Given the description of an element on the screen output the (x, y) to click on. 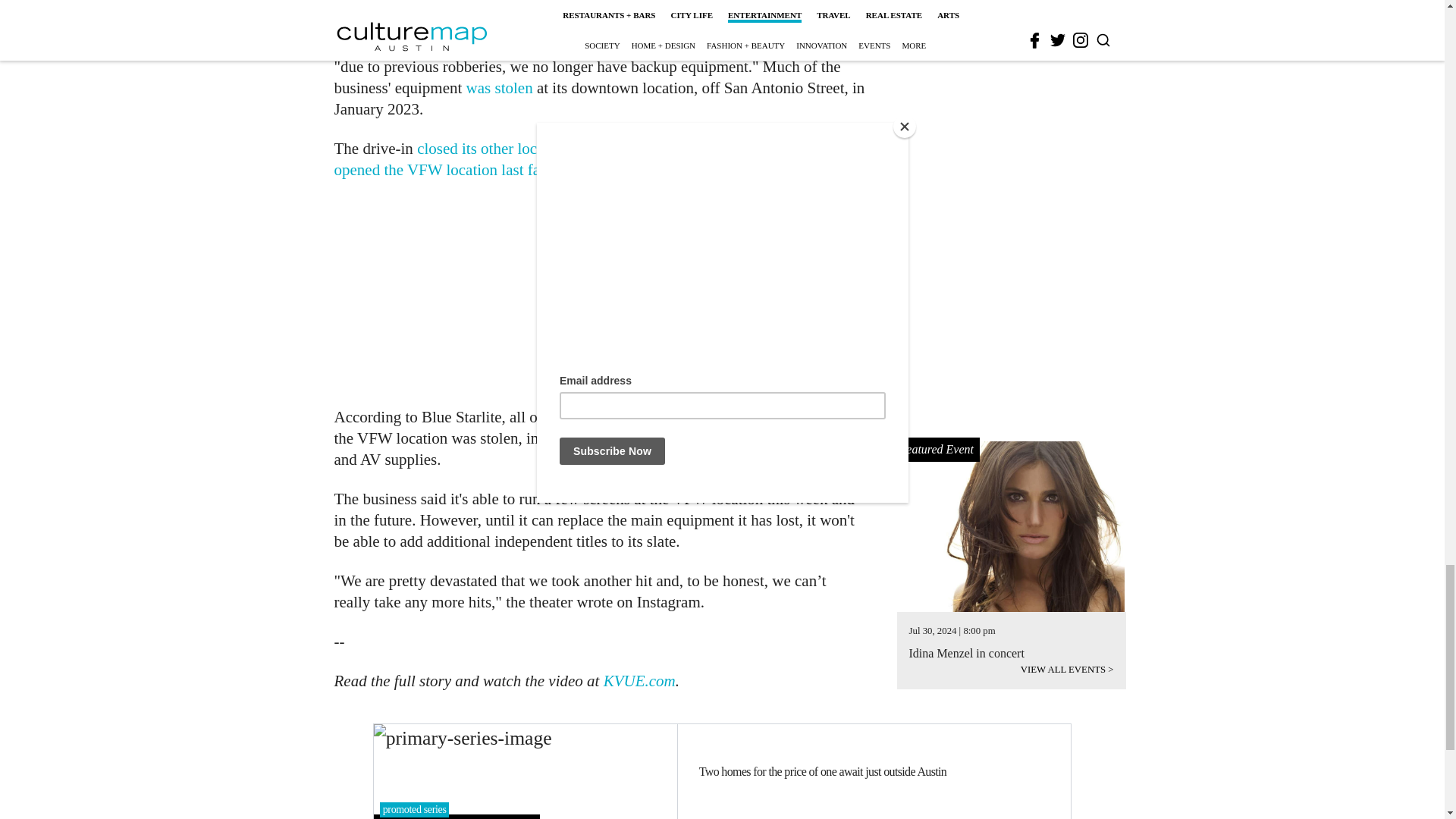
primary-link (525, 771)
3rd party ad content (600, 293)
